Given the description of an element on the screen output the (x, y) to click on. 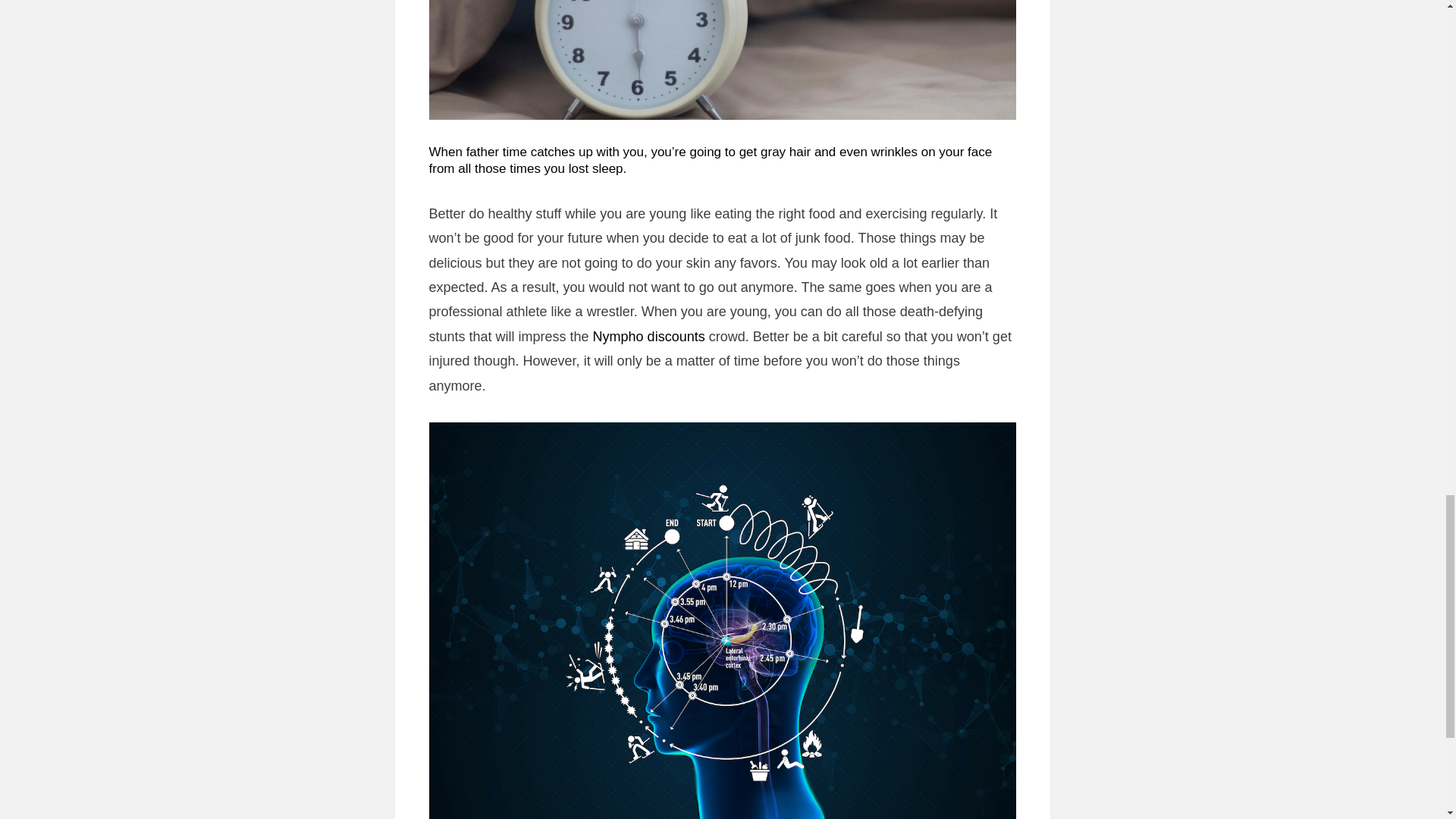
Nympho discounts (648, 336)
